Given the description of an element on the screen output the (x, y) to click on. 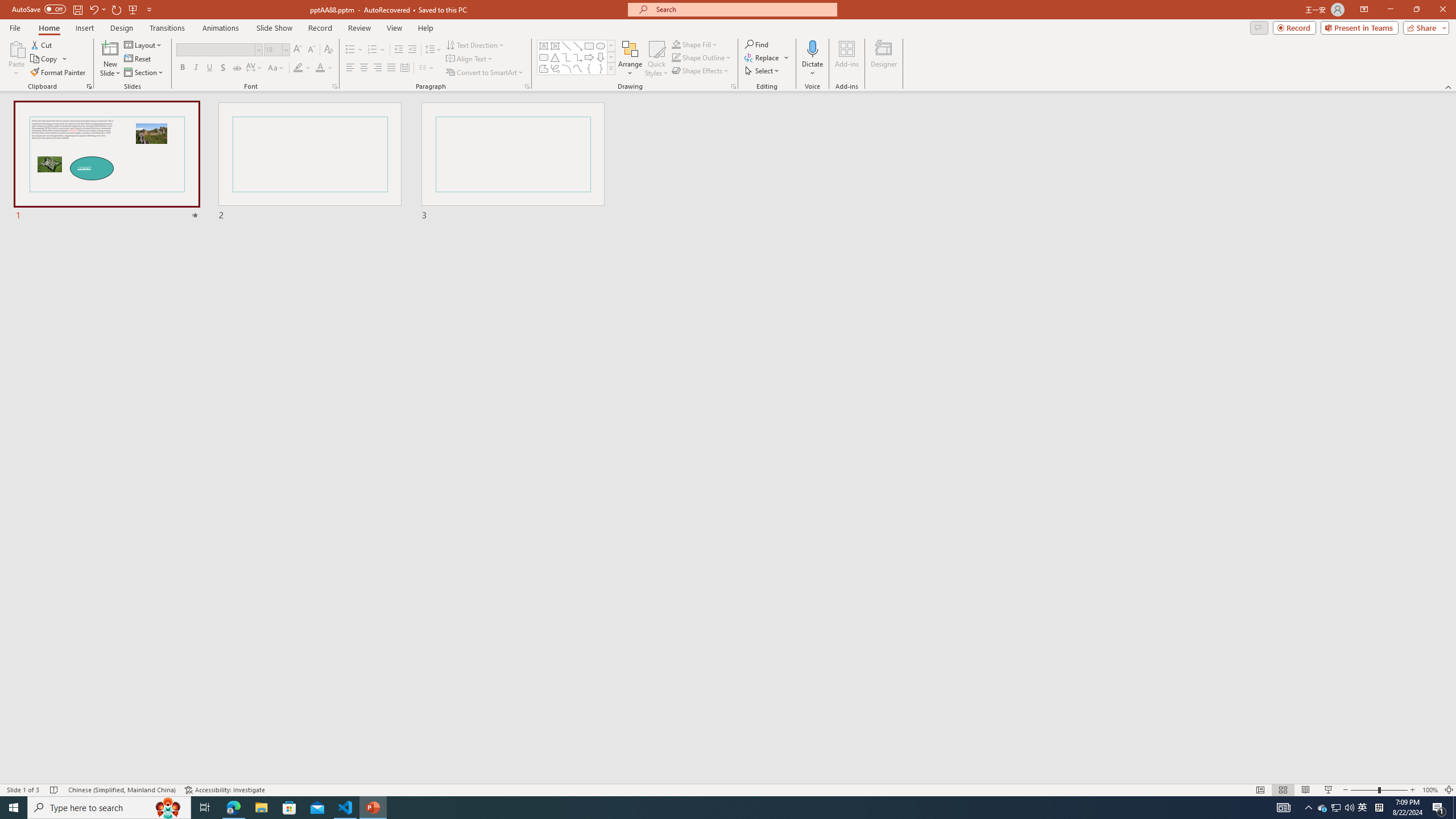
Zoom 100% (1430, 790)
